Given the description of an element on the screen output the (x, y) to click on. 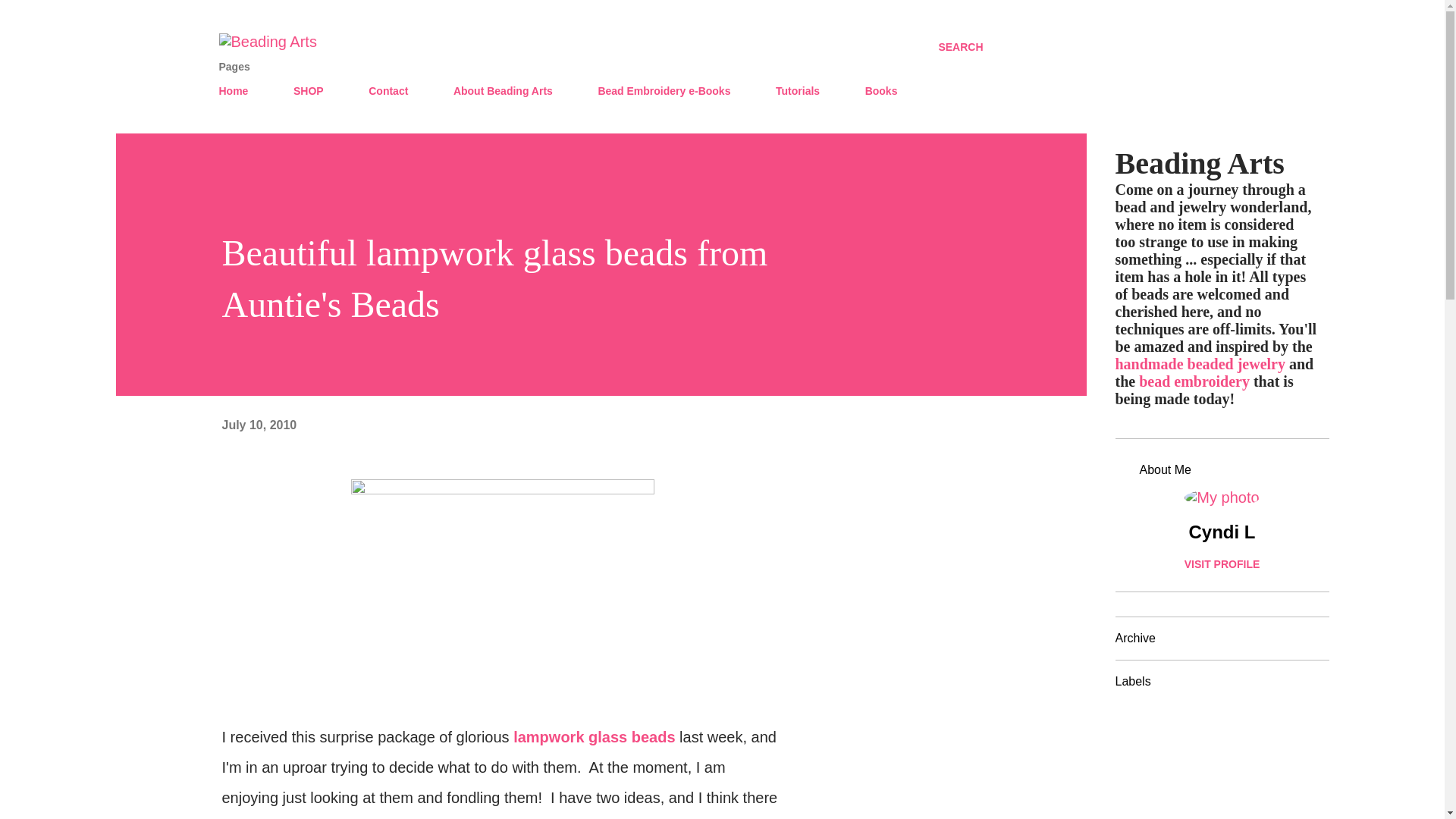
About Beading Arts (503, 91)
Books (881, 91)
Bead Embroidery e-Books (663, 91)
Contact (387, 91)
SEARCH (959, 46)
July 10, 2010 (259, 424)
Tutorials (797, 91)
lampwork glass beads (594, 736)
SHOP (308, 91)
permanent link (259, 424)
